Given the description of an element on the screen output the (x, y) to click on. 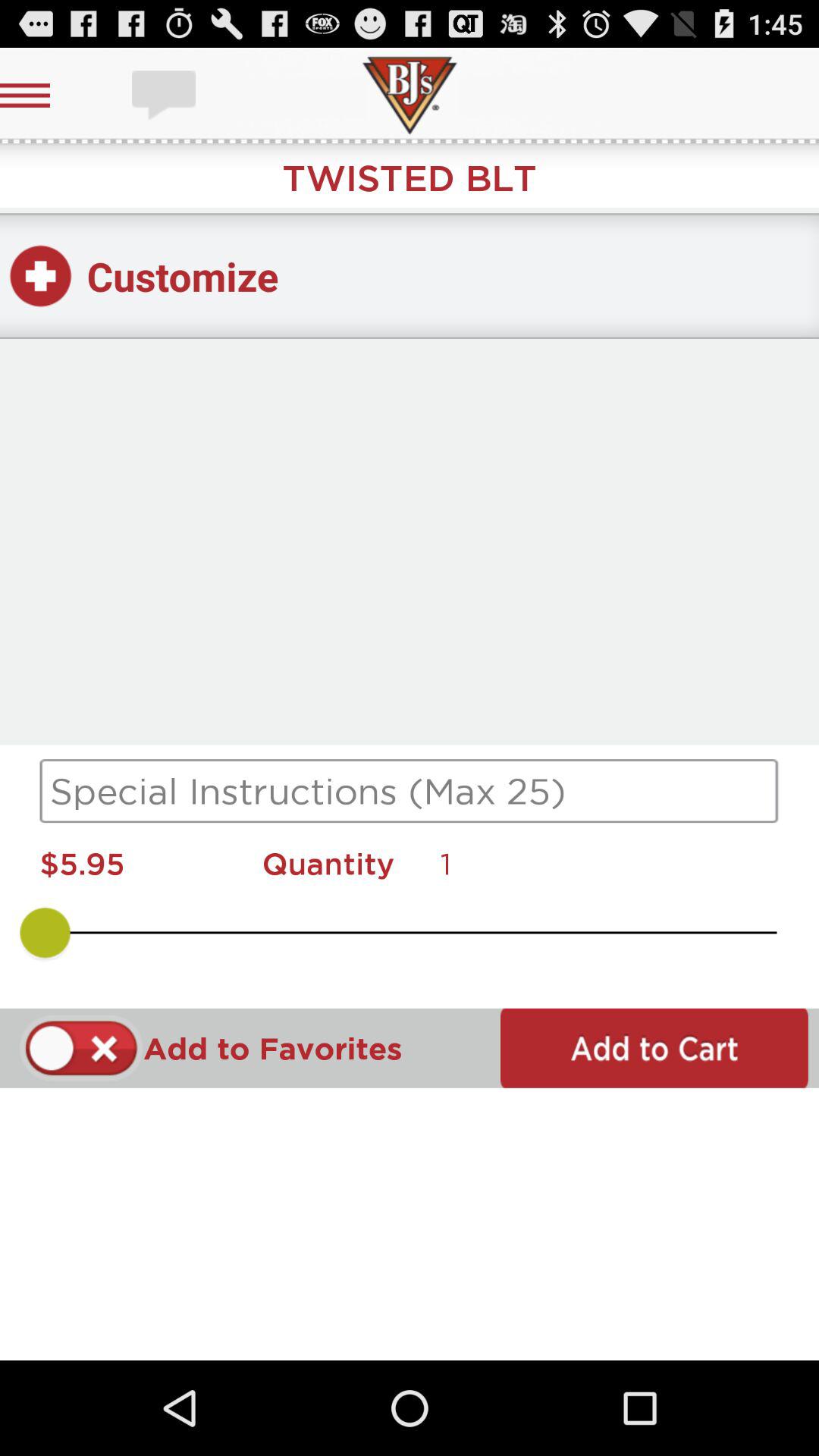
go to chat (165, 95)
